Given the description of an element on the screen output the (x, y) to click on. 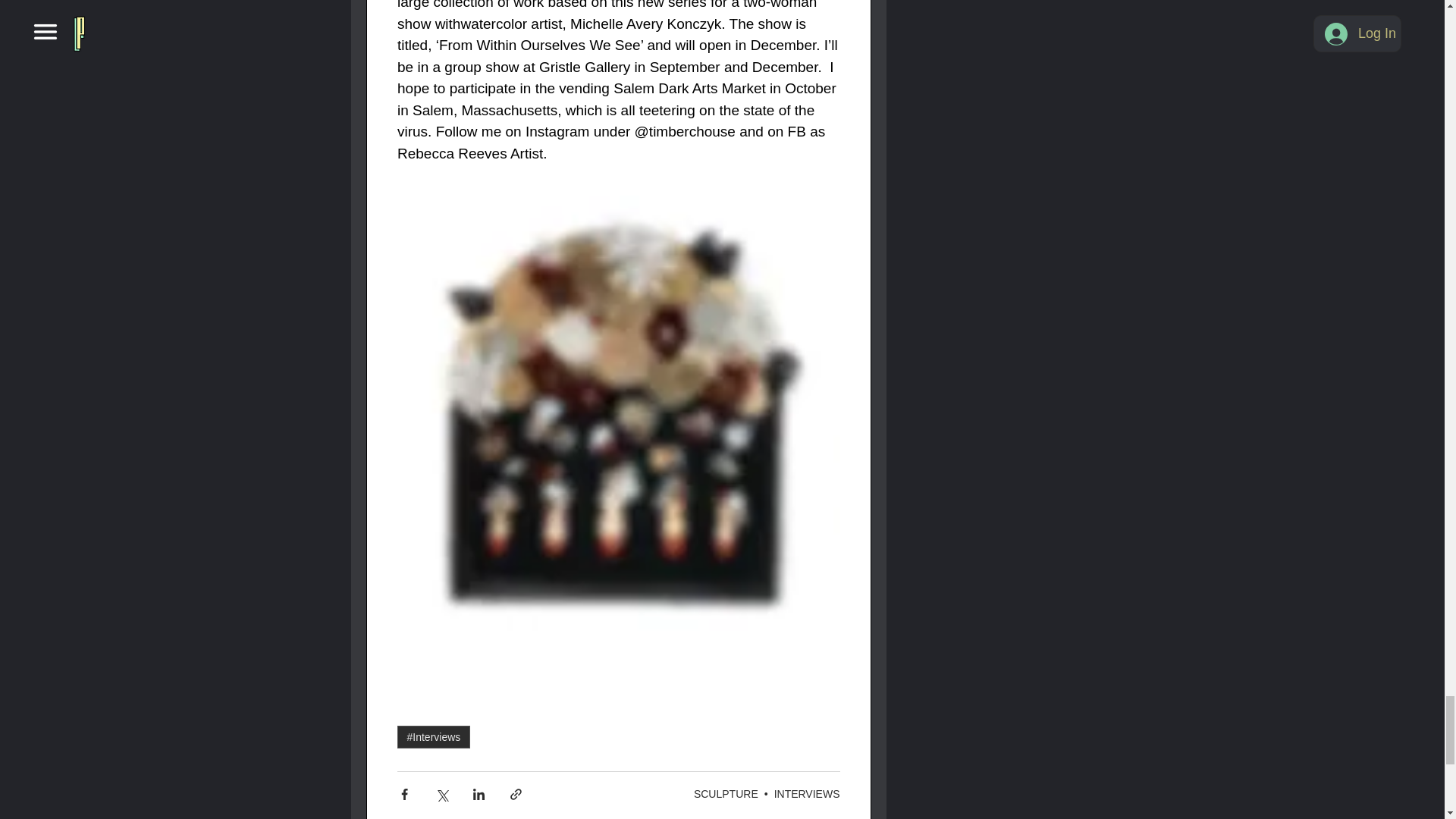
INTERVIEWS (807, 793)
SCULPTURE (726, 793)
